Given the description of an element on the screen output the (x, y) to click on. 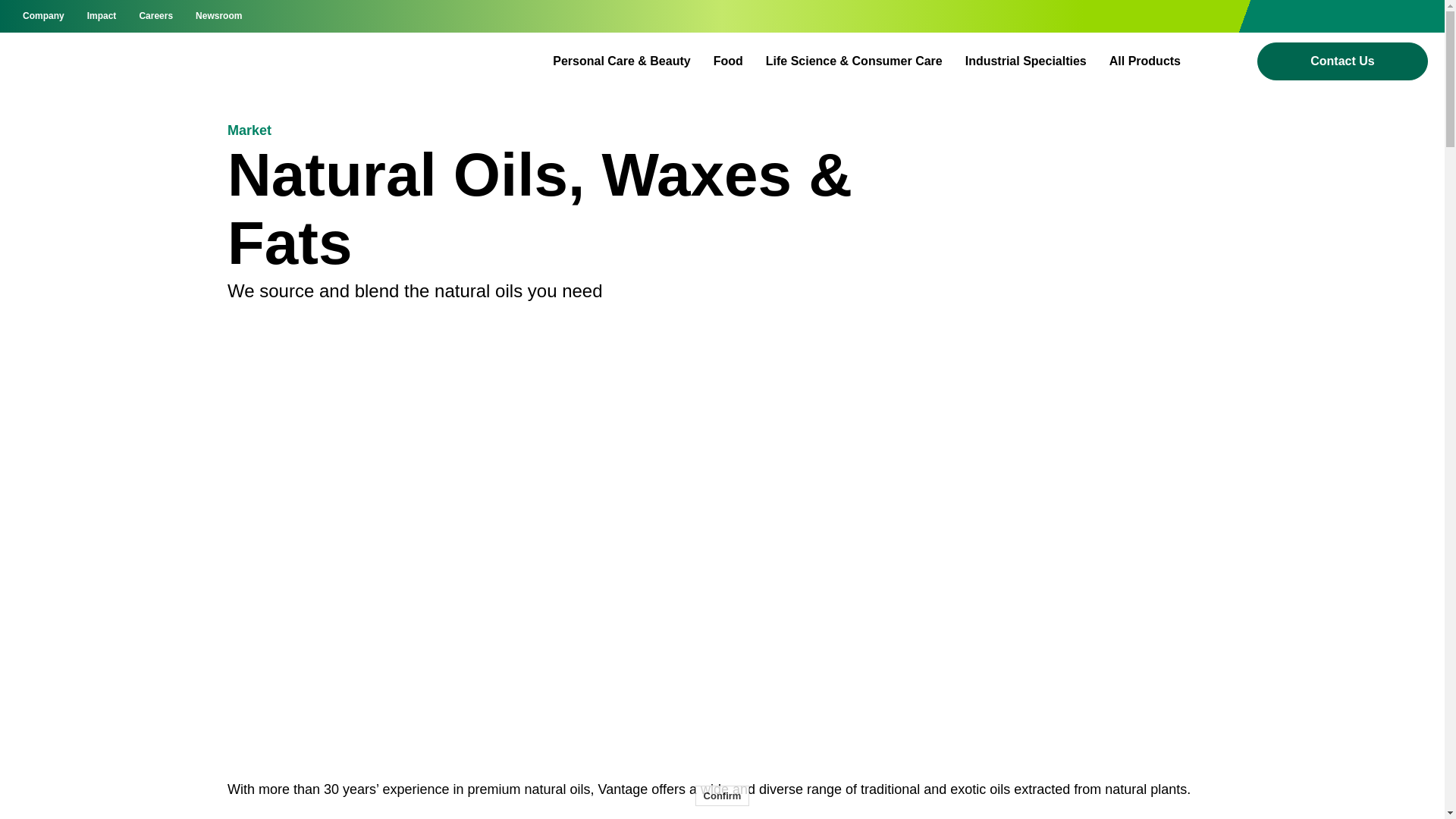
Newsroom (218, 16)
Company (43, 16)
header-dropdown-food (727, 61)
header-dropdown-company (43, 16)
Impact (101, 16)
header-dropdown-contactus (1342, 61)
header-dropdown-industrial (1025, 61)
header-dropdown-lifeandconsumer (853, 61)
header-dropdown-newsroom (218, 16)
Careers (155, 16)
